Given the description of an element on the screen output the (x, y) to click on. 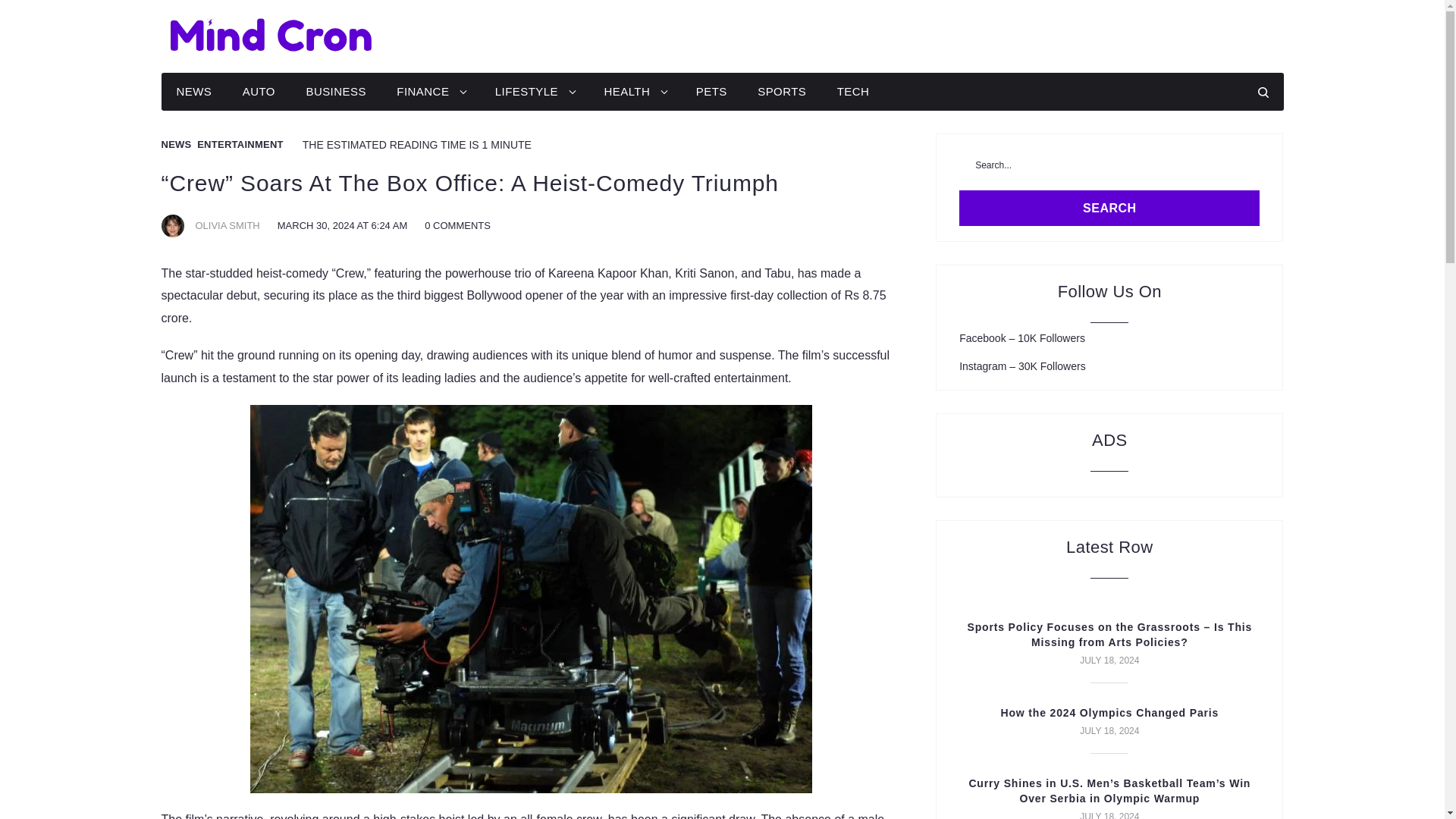
0 COMMENTS (457, 225)
ENTERTAINMENT (239, 144)
SPORTS (781, 91)
PETS (711, 91)
LIFESTYLE (534, 91)
NEWS (175, 144)
BUSINESS (334, 91)
AUTO (258, 91)
NEWS (193, 91)
TECH (853, 91)
OLIVIA SMITH (227, 225)
HEALTH (633, 91)
FINANCE (430, 91)
